Given the description of an element on the screen output the (x, y) to click on. 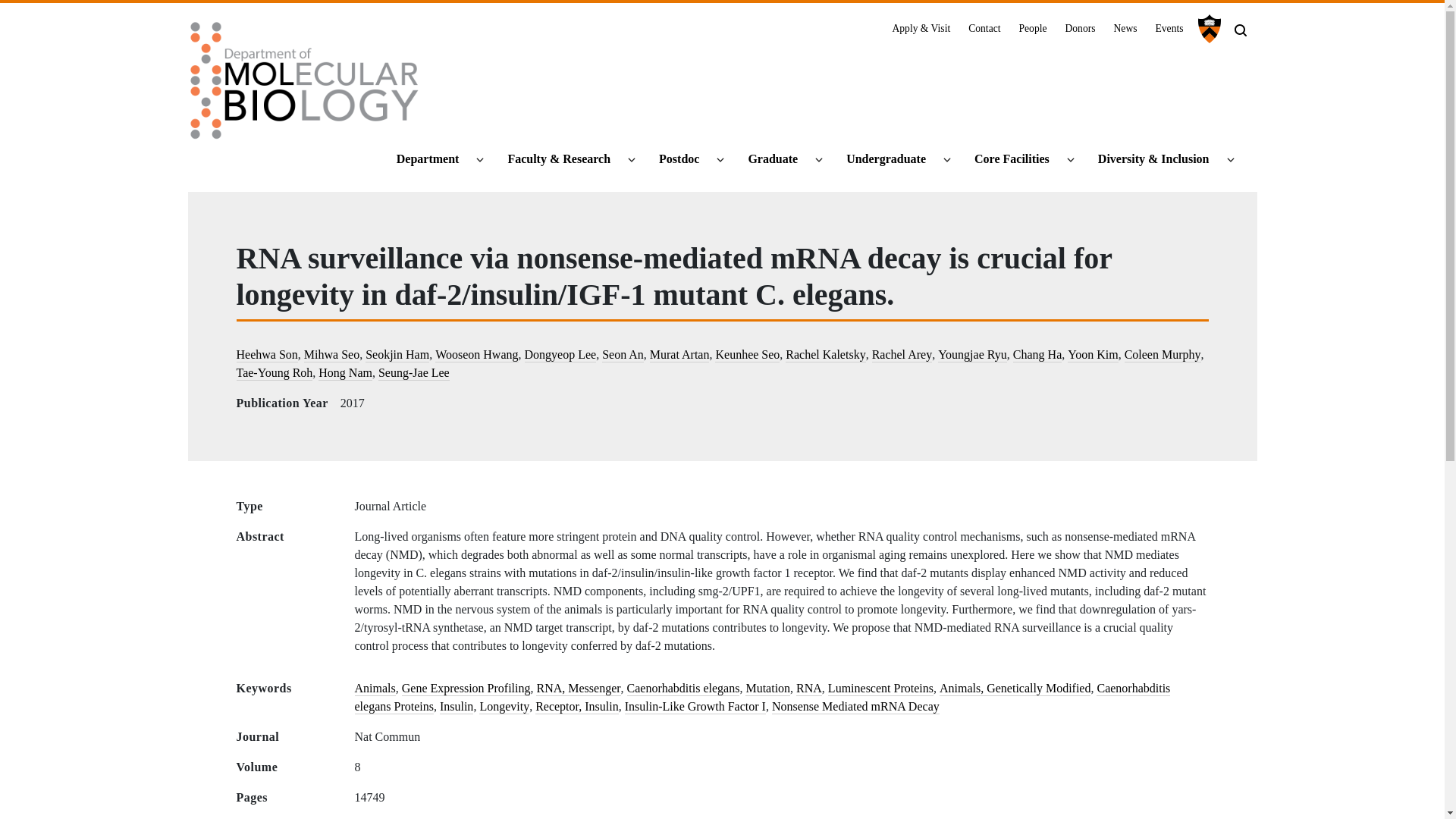
Graduate (778, 159)
Home (304, 86)
Department (434, 159)
Postdoc (685, 159)
